Given the description of an element on the screen output the (x, y) to click on. 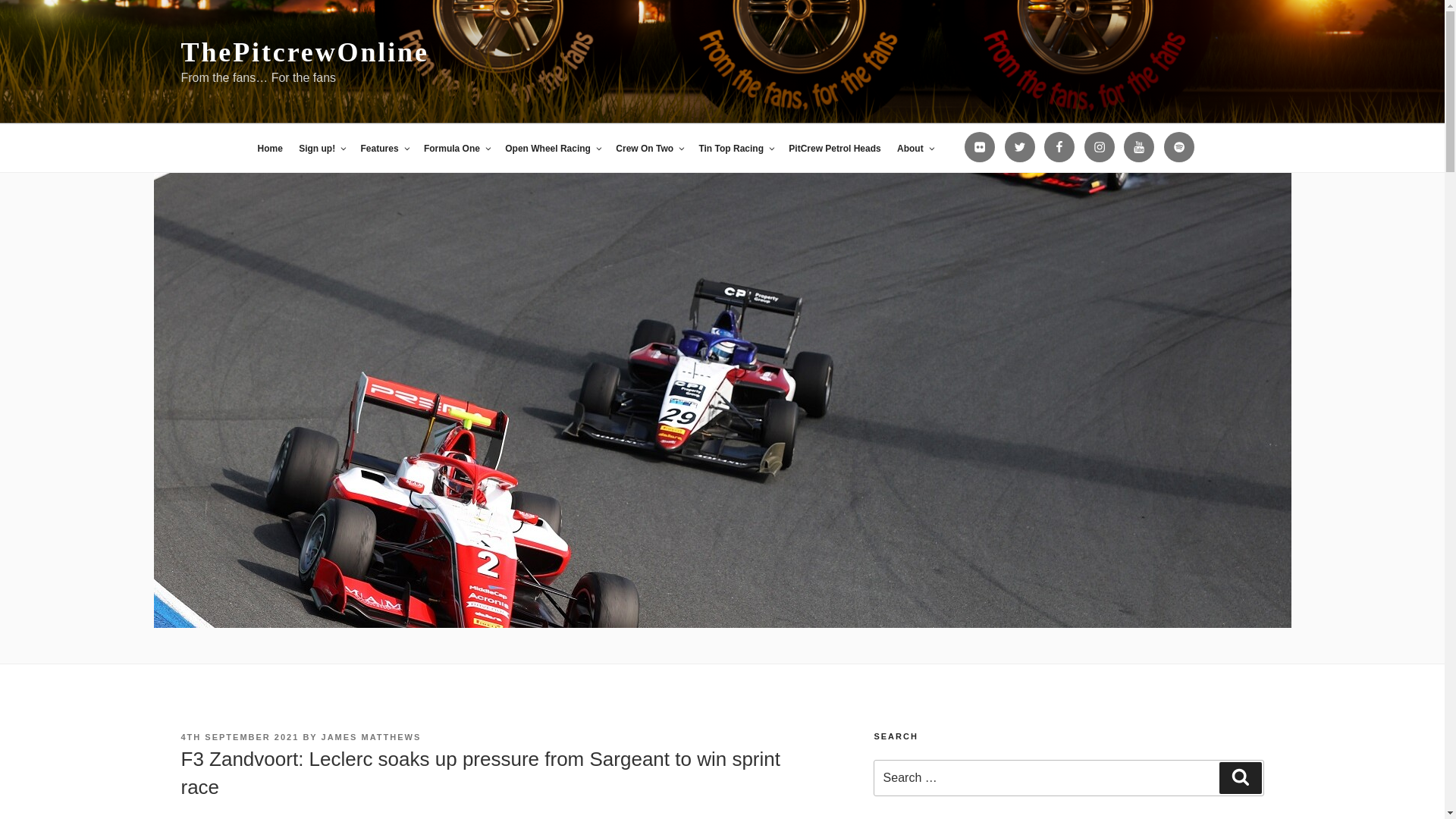
Formula One (456, 148)
Open Wheel Racing (552, 148)
ThePitcrewOnline (304, 51)
Sign up! (321, 148)
Home (269, 148)
Features (383, 148)
